Given the description of an element on the screen output the (x, y) to click on. 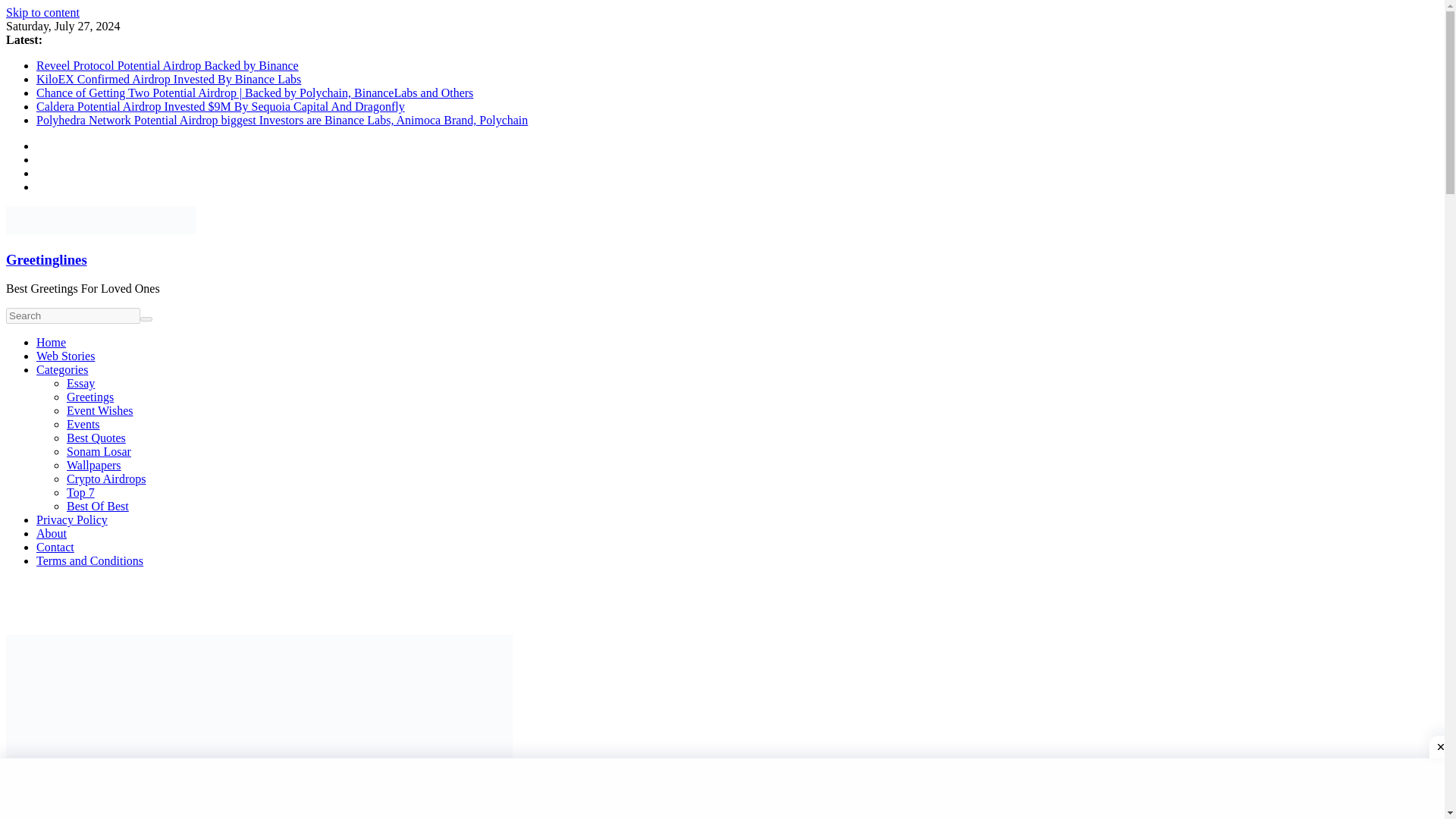
Privacy Policy (71, 519)
Crypto Airdrops (105, 478)
KiloEX Confirmed Airdrop Invested By Binance Labs (168, 78)
Reveel Protocol Potential Airdrop Backed by Binance (167, 65)
Contact (55, 546)
Home (50, 341)
Best Quotes (95, 437)
Event Wishes (99, 410)
